Given the description of an element on the screen output the (x, y) to click on. 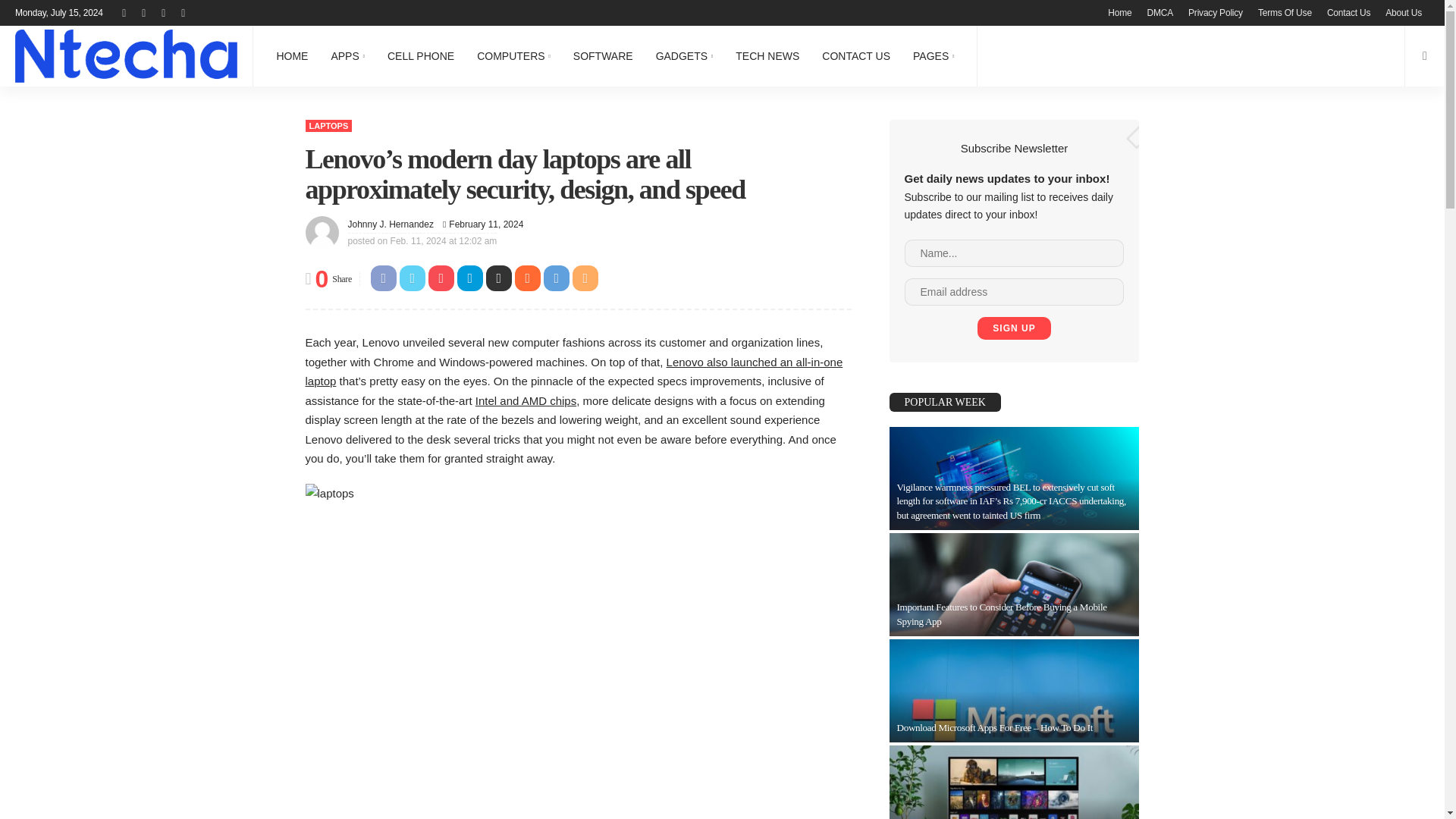
SOFTWARE (603, 55)
LAPTOPS (328, 125)
N Techa (125, 55)
About Us (1403, 12)
Terms Of Use (1284, 12)
GADGETS (685, 55)
Privacy Policy (1215, 12)
CELL PHONE (420, 55)
APPS (346, 55)
HOME (291, 55)
Contact Us (1348, 12)
TECH NEWS (766, 55)
Sign up (1012, 327)
Laptops (328, 125)
Home (1119, 12)
